Given the description of an element on the screen output the (x, y) to click on. 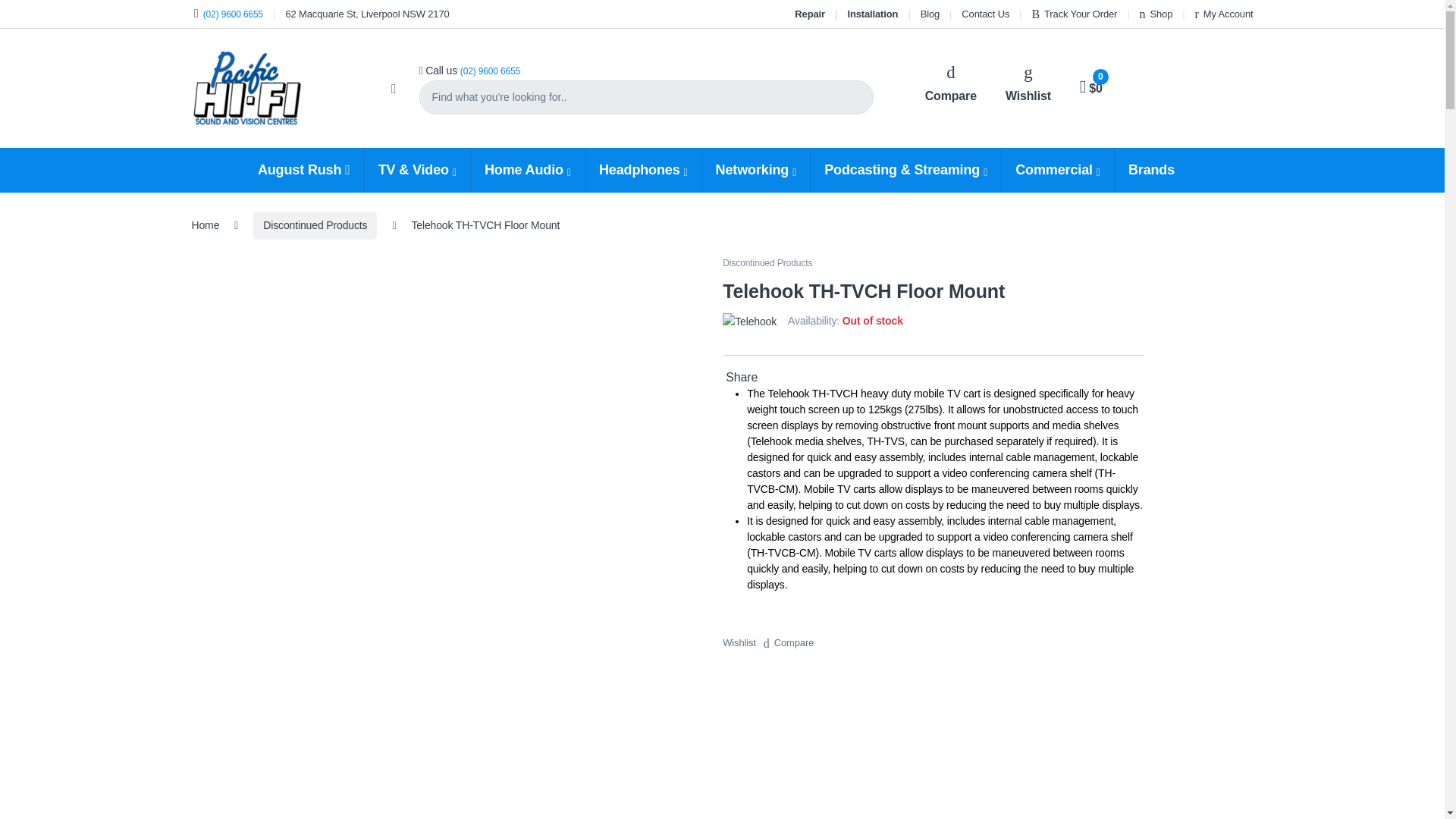
62 Macquarie St, Liverpool NSW 2170 (366, 13)
Installation (872, 13)
Repair (809, 13)
Track Your Order (1073, 13)
My Account (1224, 13)
Shop (1156, 13)
Track Your Order (1073, 13)
62 Macquarie St, Liverpool NSW 2170 (366, 13)
Repair (809, 13)
Shop (1156, 13)
